Given the description of an element on the screen output the (x, y) to click on. 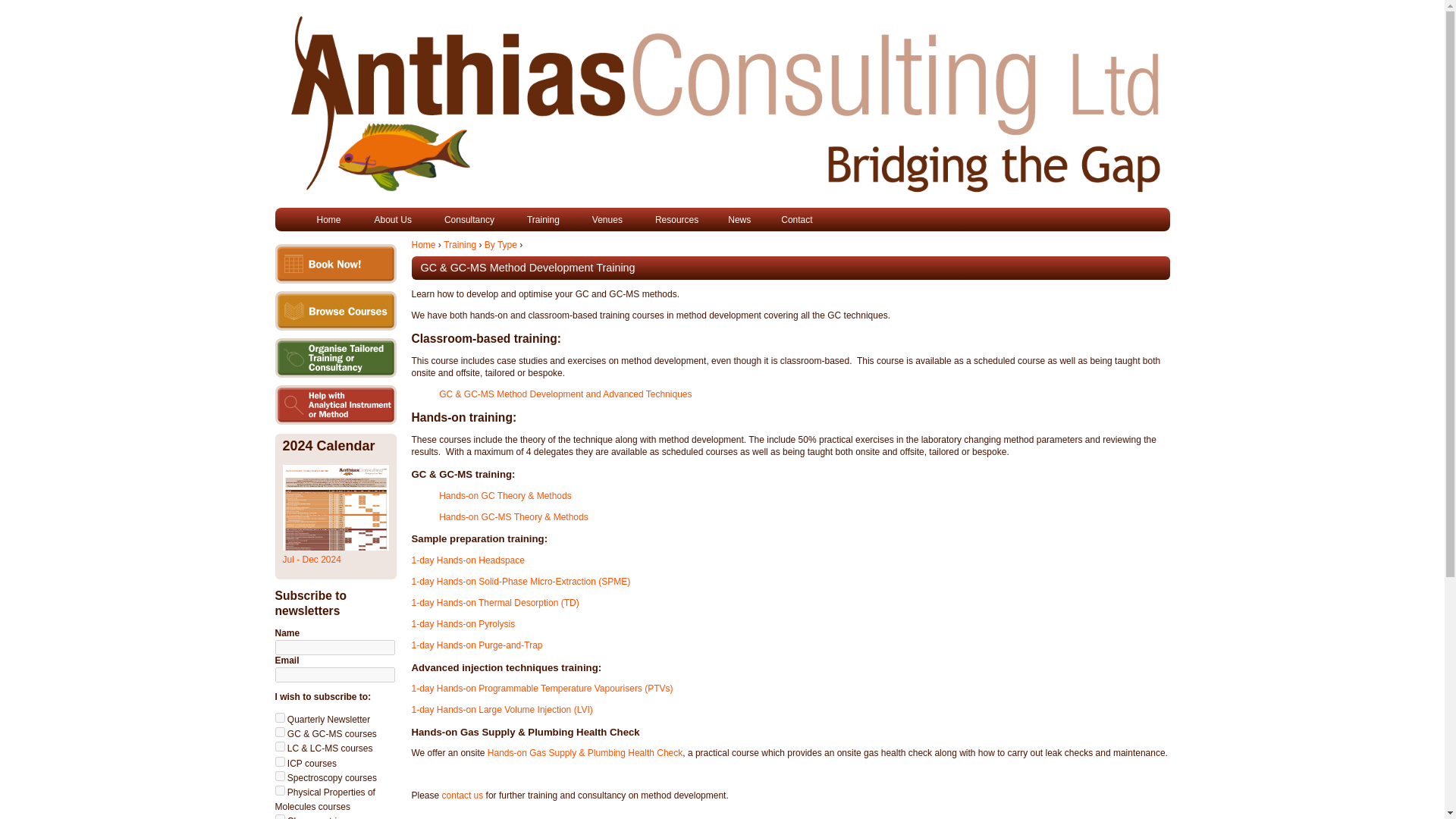
783863 (279, 717)
931318 (279, 746)
931319 (279, 761)
contact us (462, 795)
931320 (279, 776)
About Us (395, 219)
By Type (500, 244)
1-day Hands-on Pyrolysis (462, 624)
Home (328, 219)
1-day Hands-on Headspace (467, 560)
1545156 (279, 790)
1-day Hands-on Purge-and-Trap (475, 644)
1545157 (279, 816)
783864 (279, 732)
Home (422, 244)
